Given the description of an element on the screen output the (x, y) to click on. 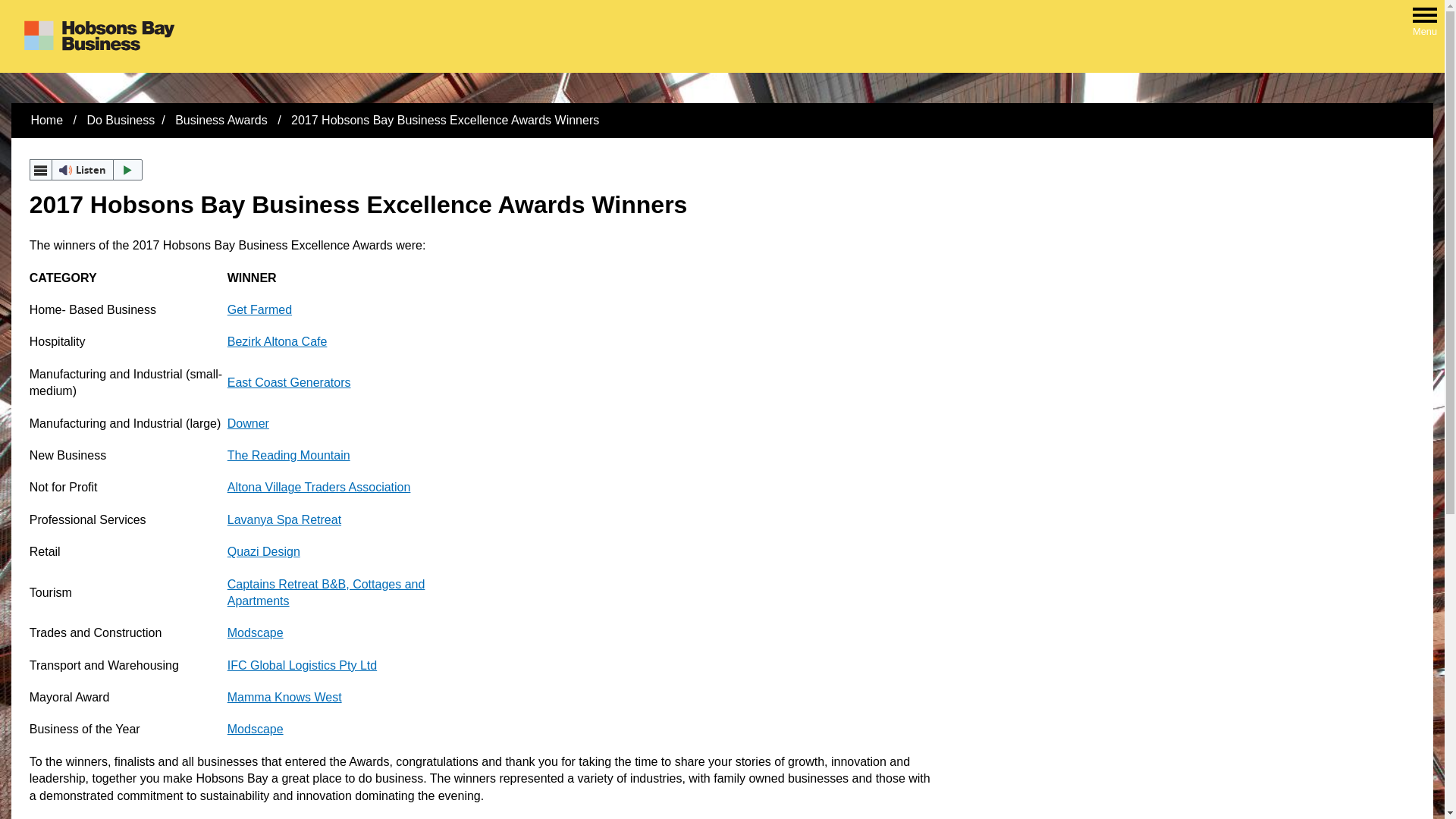
Home - Hobsons Bay City Council - Logo Element type: text (99, 35)
Quazi Design Element type: text (263, 551)
Downer Element type: text (248, 423)
Captains Retreat B&B, Cottages and Apartments Element type: text (326, 592)
The Reading Mountain Element type: text (288, 454)
East Coast Generators Element type: text (289, 382)
Lavanya Spa Retreat Element type: text (284, 519)
Home Element type: text (46, 119)
Altona Village Traders Association Element type: text (319, 486)
IFC Global Logistics Pty Ltd Element type: text (301, 664)
Modscape Element type: text (255, 632)
Open
Menu
below search button Element type: text (1424, 17)
Business Awards Element type: text (222, 119)
Do Business Element type: text (120, 119)
webReader menu Element type: hover (40, 169)
Bezirk Altona Cafe Element type: text (277, 341)
Modscape Element type: text (255, 728)
Get Farmed Element type: text (259, 309)
Listen Element type: text (86, 169)
Mamma Knows West Element type: text (284, 696)
